Given the description of an element on the screen output the (x, y) to click on. 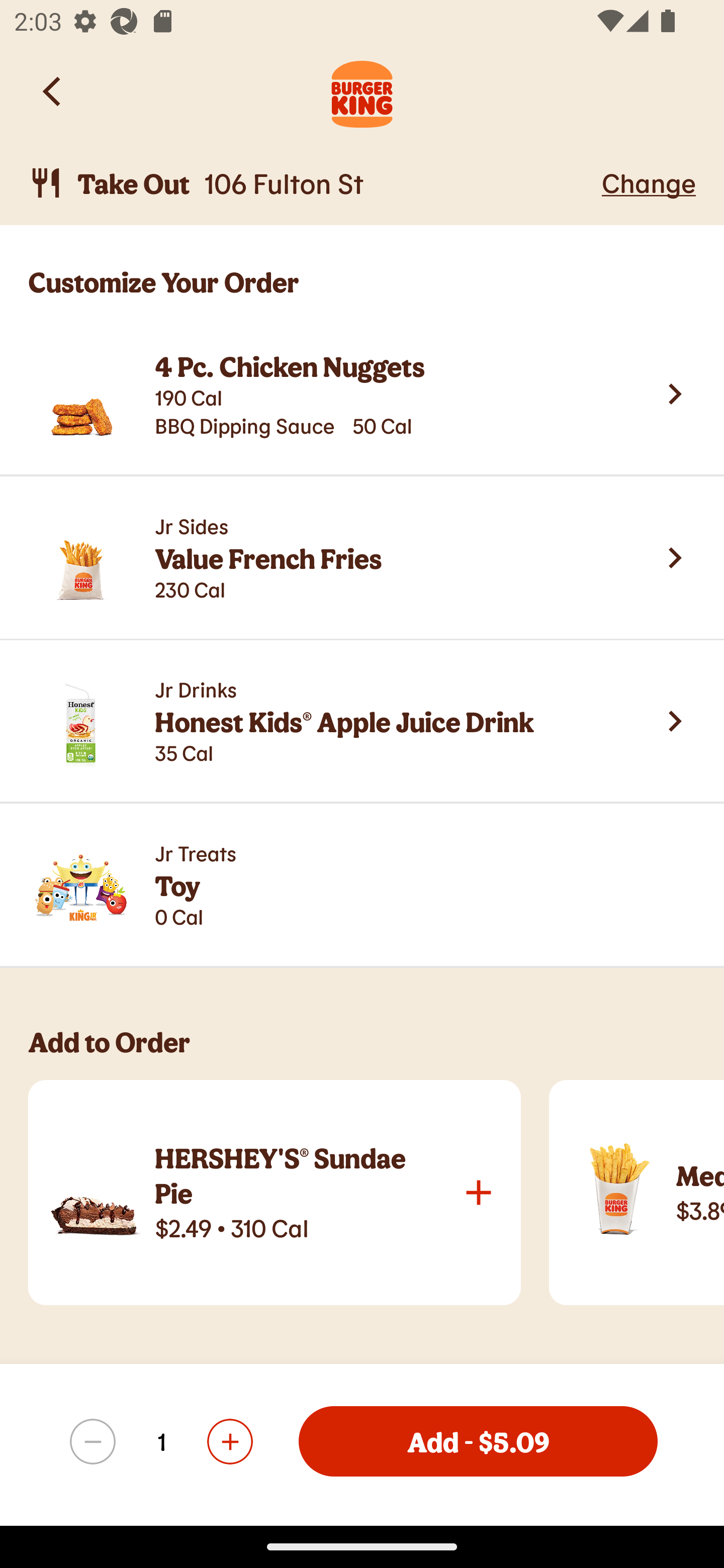
Burger King Logo. Navigate to Home (362, 91)
Back (52, 91)
Take Out, 106 Fulton St  Take Out 106 Fulton St (311, 183)
Change (648, 182)
Customize Your Order (362, 269)
Add to Order (376, 1051)
decrement-4 Pc. Chicken Nuggets King Jr. Meal  (92, 1441)
increment-4 Pc. Chicken Nuggets King Jr. Meal  (229, 1441)
